Given the description of an element on the screen output the (x, y) to click on. 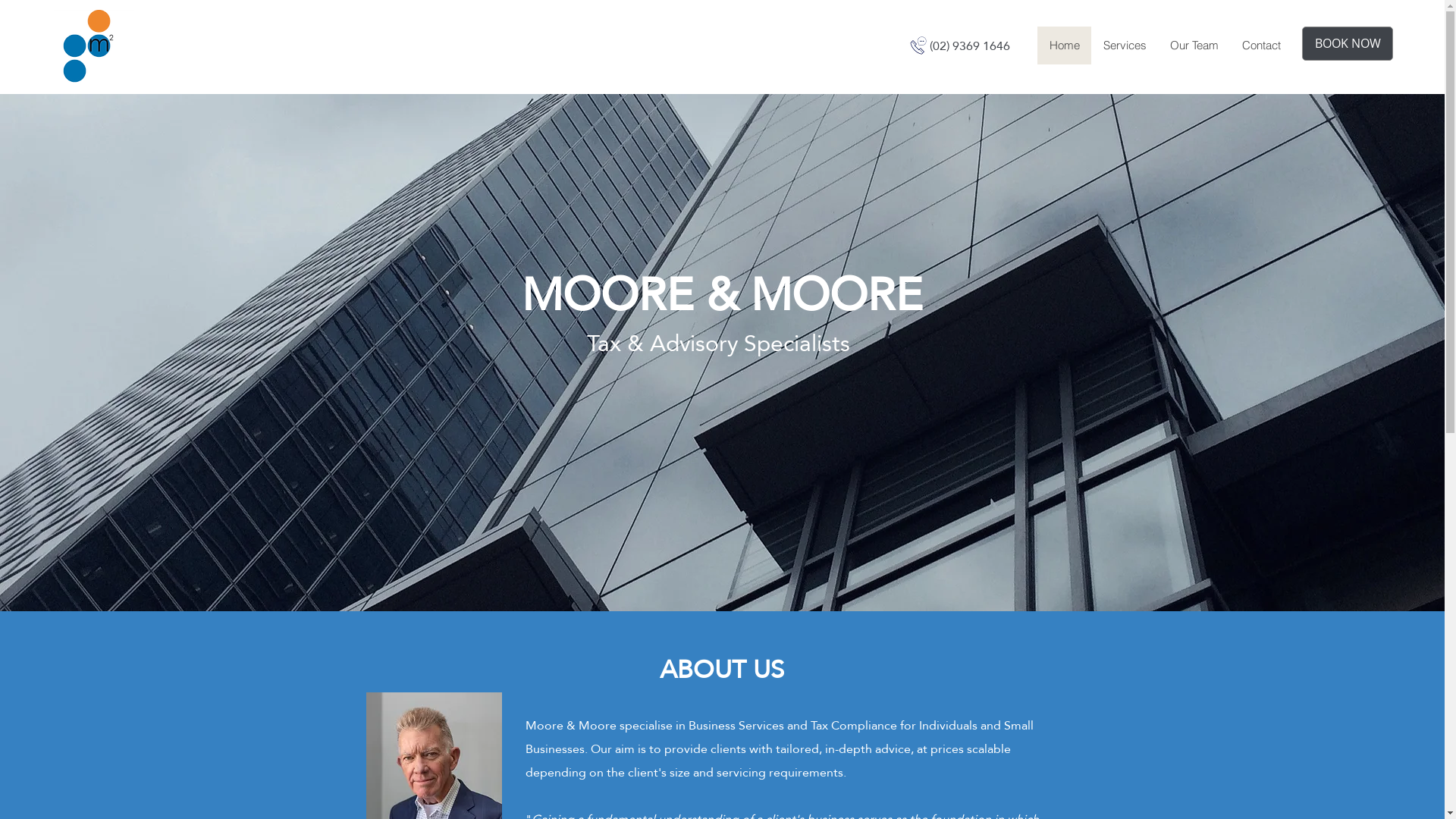
BOOK NOW Element type: text (1347, 43)
ABOUT US Element type: text (721, 669)
Our Team Element type: text (1193, 45)
(02) 9369 1646 Element type: text (969, 44)
Services Element type: text (1124, 45)
Contact Element type: text (1261, 45)
Home Element type: text (1064, 45)
